Given the description of an element on the screen output the (x, y) to click on. 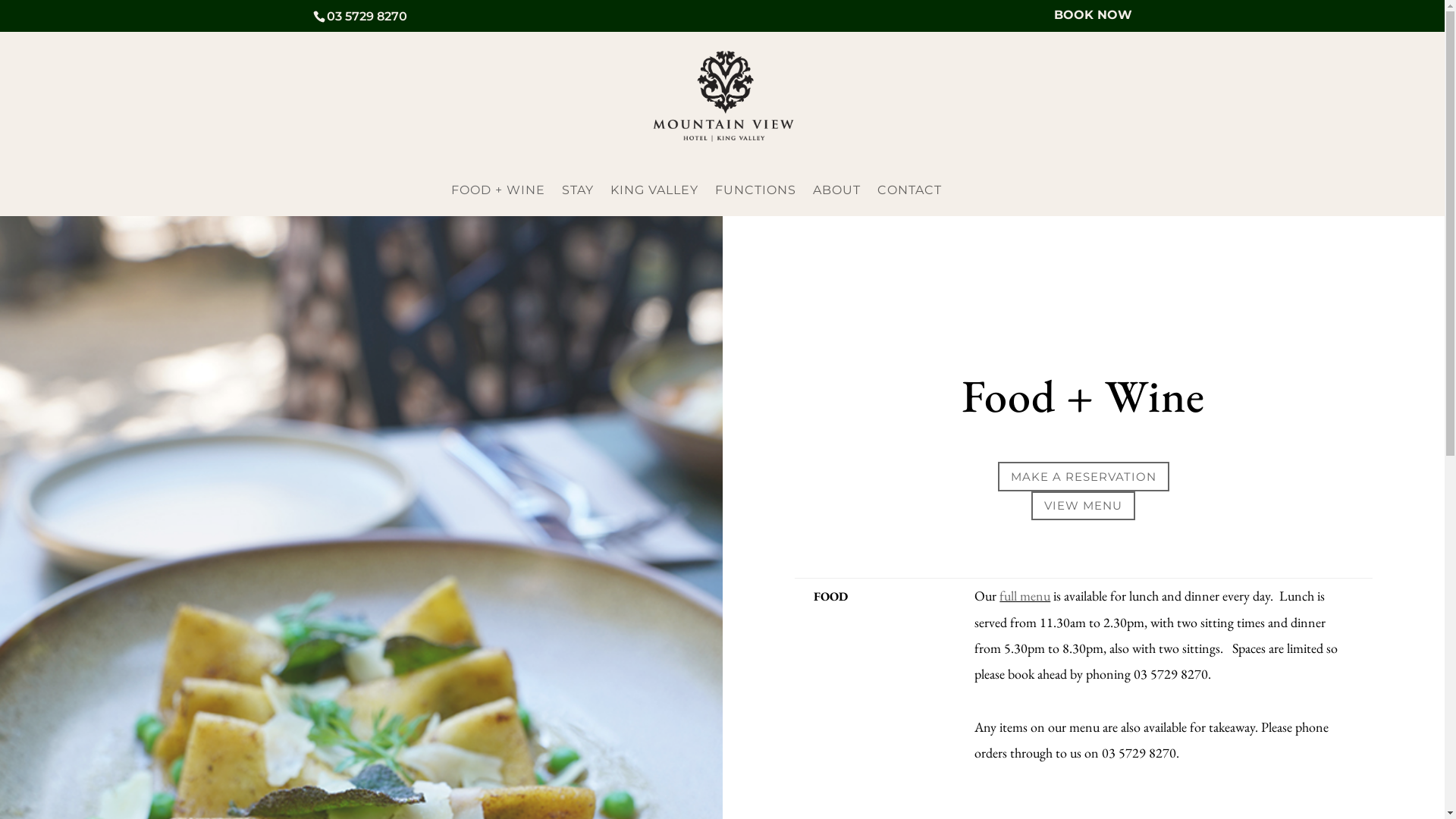
  Element type: text (1051, 595)
BOOK NOW Element type: text (1093, 19)
CONTACT Element type: text (909, 200)
ABOUT Element type: text (836, 200)
VIEW MENU Element type: text (1083, 505)
full menu Element type: text (1024, 595)
FUNCTIONS Element type: text (755, 200)
KING VALLEY Element type: text (654, 200)
MAKE A RESERVATION Element type: text (1083, 476)
STAY Element type: text (577, 200)
FOOD + WINE Element type: text (498, 200)
